Given the description of an element on the screen output the (x, y) to click on. 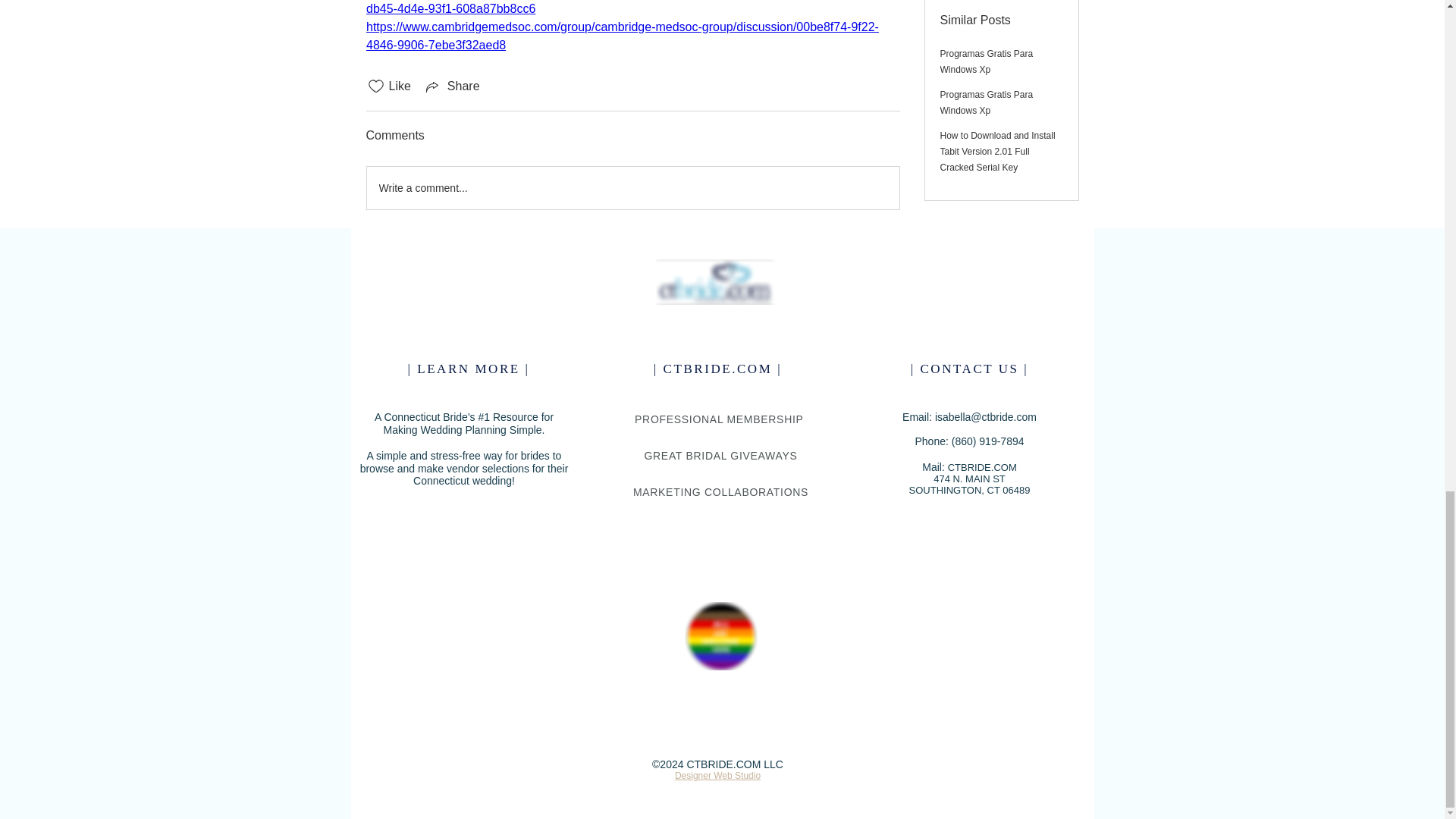
GREAT BRIDAL GIVEAWAYS (719, 455)
PROFESSIONAL MEMBERSHIP  (720, 419)
Write a comment... (632, 188)
MARKETING COLLABORATIONS (720, 491)
Share (451, 85)
